Given the description of an element on the screen output the (x, y) to click on. 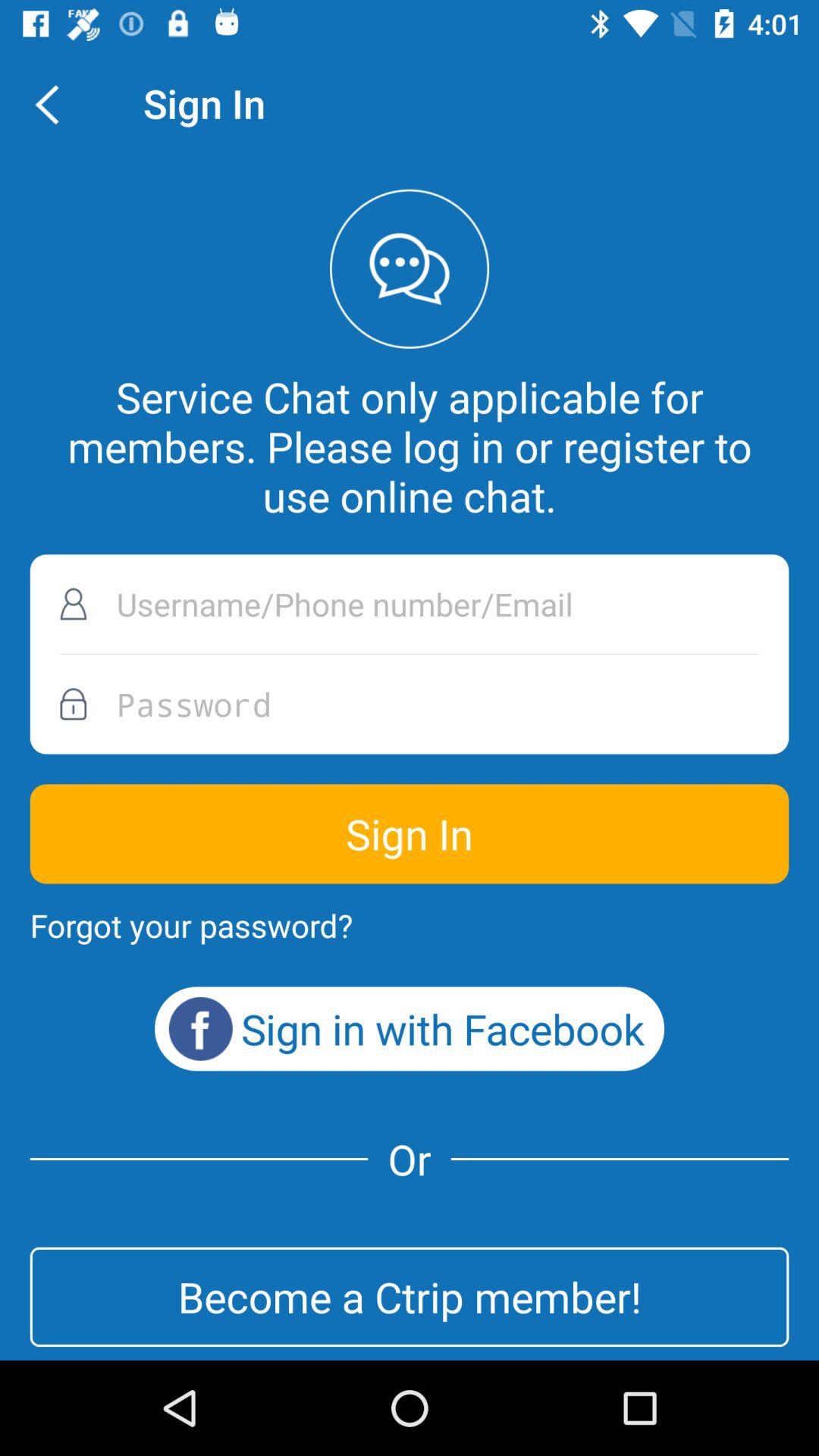
type login details (409, 604)
